Given the description of an element on the screen output the (x, y) to click on. 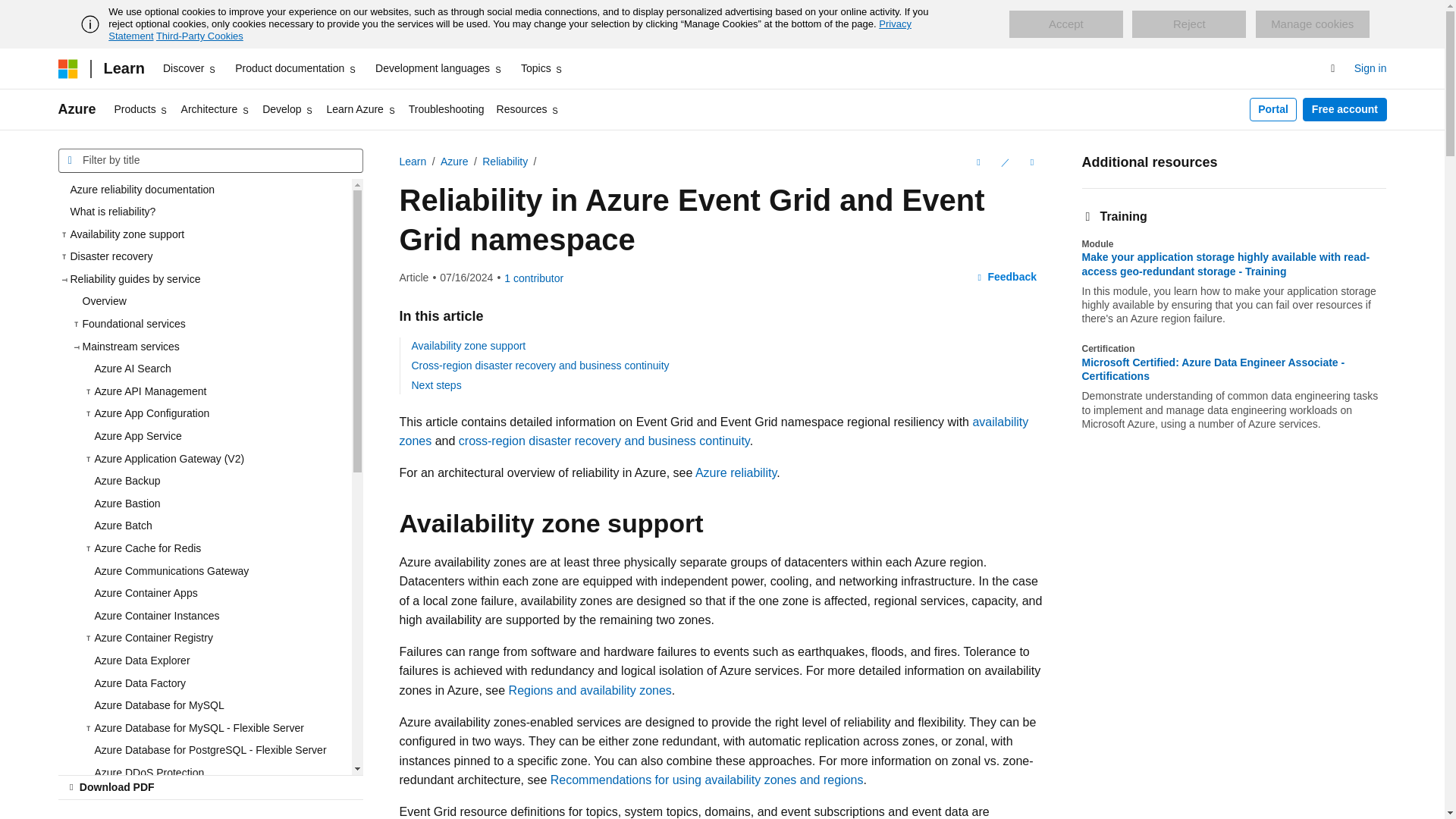
Learn (123, 68)
Topics (542, 68)
Reject (1189, 23)
Development languages (438, 68)
More actions (1031, 161)
Skip to main content (11, 11)
Edit This Document (1004, 161)
Product documentation (295, 68)
View all contributors (533, 277)
Sign in (1370, 68)
